Given the description of an element on the screen output the (x, y) to click on. 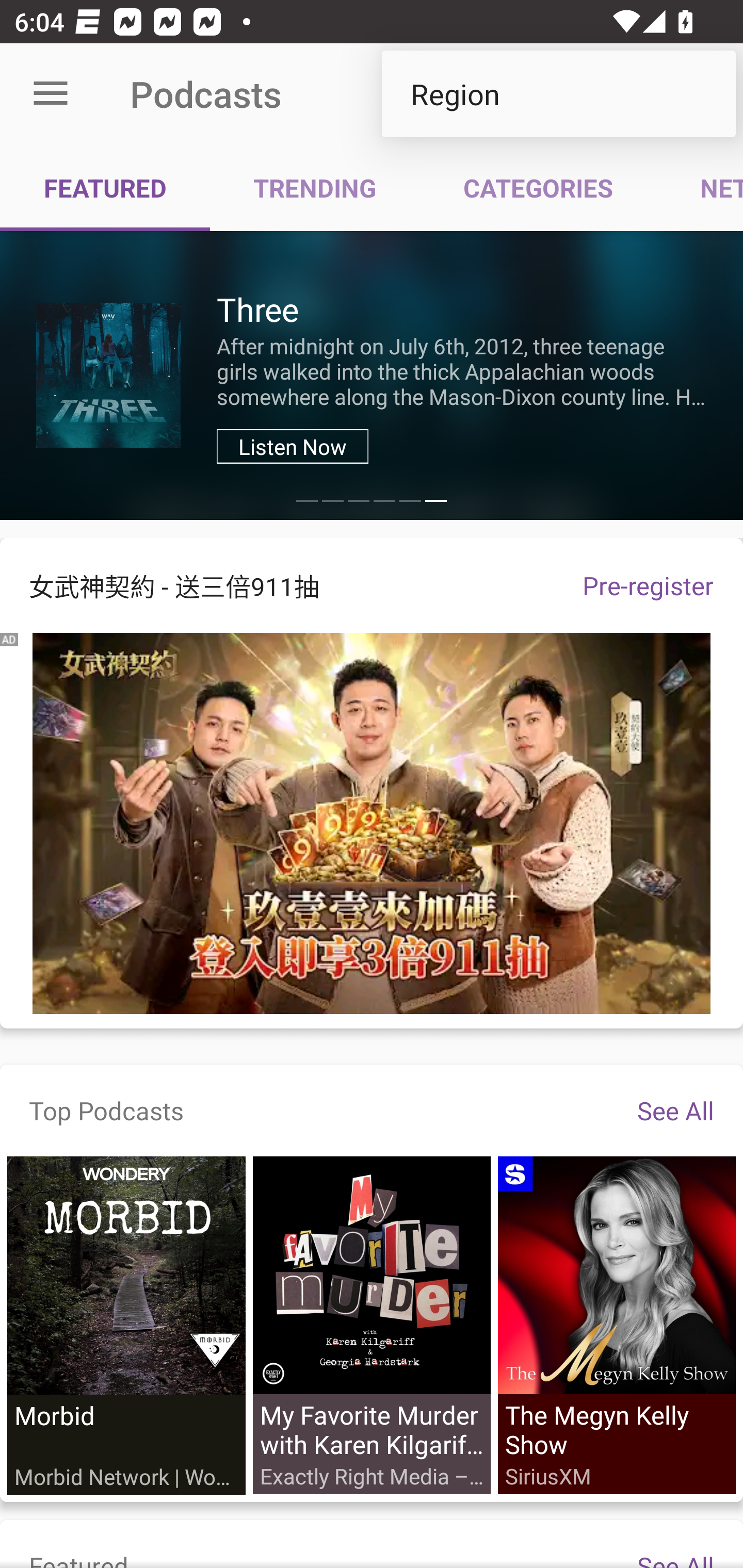
Region (558, 93)
